Given the description of an element on the screen output the (x, y) to click on. 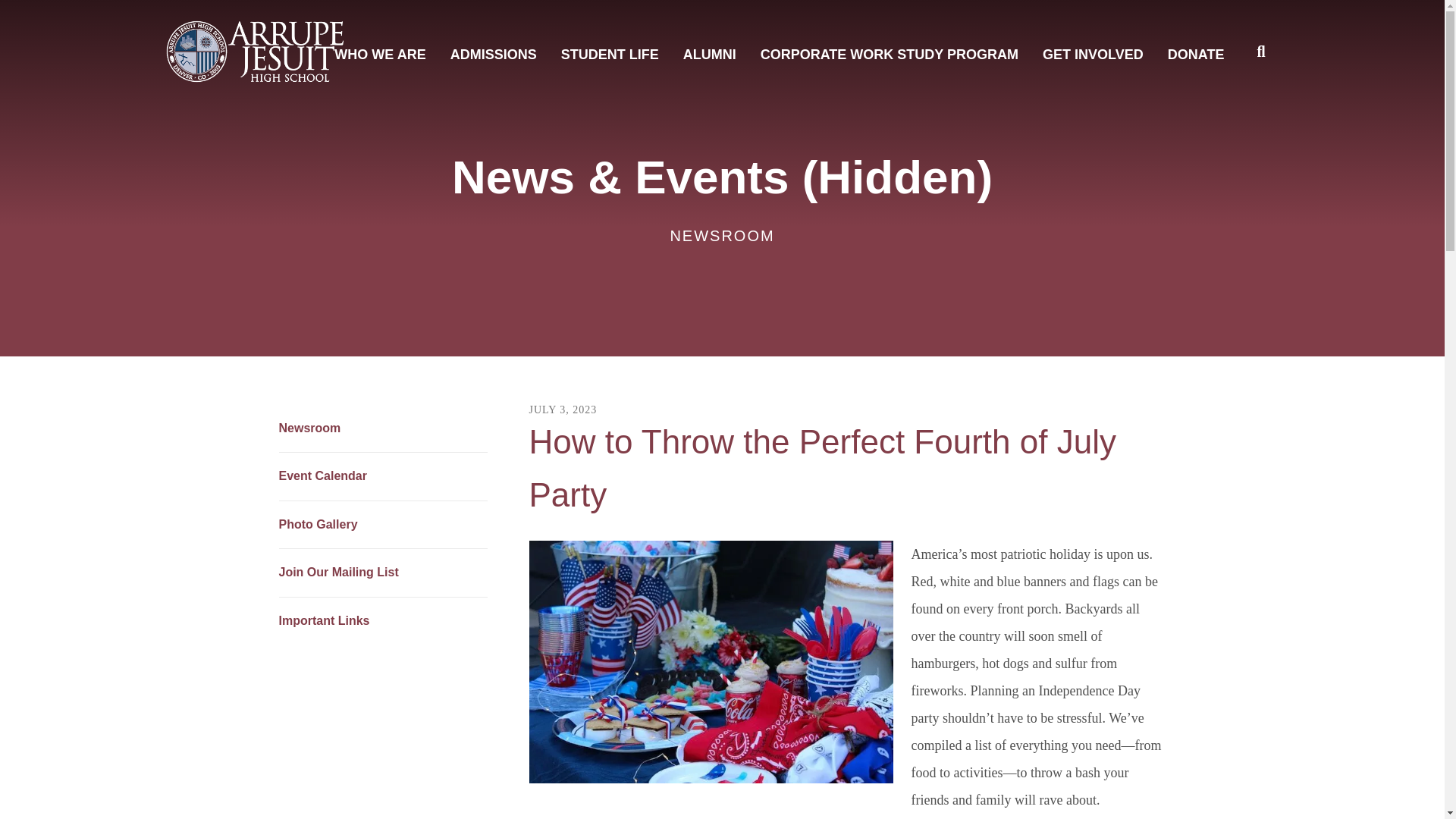
logo (254, 51)
